Given the description of an element on the screen output the (x, y) to click on. 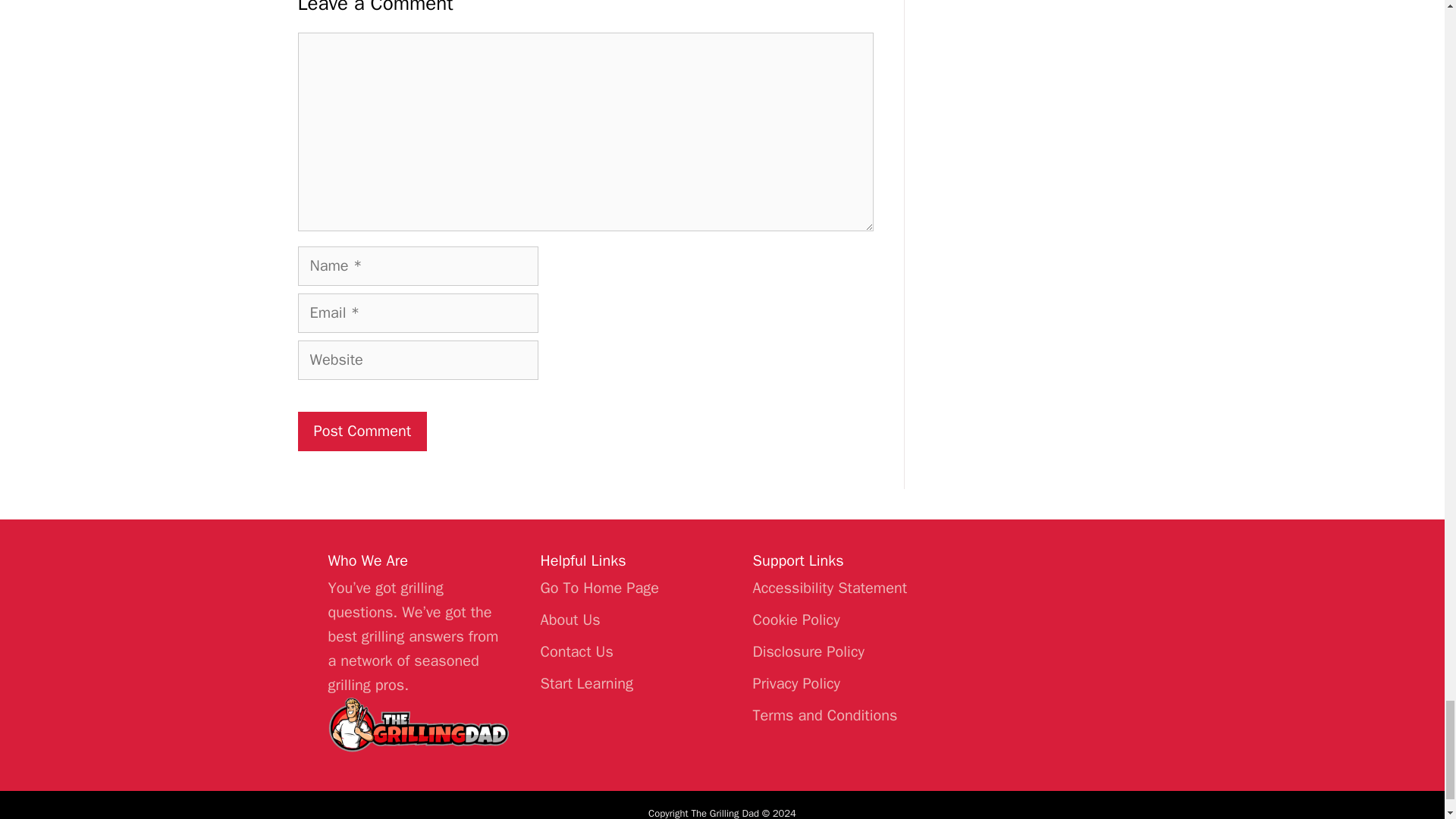
Post Comment (361, 431)
